Given the description of an element on the screen output the (x, y) to click on. 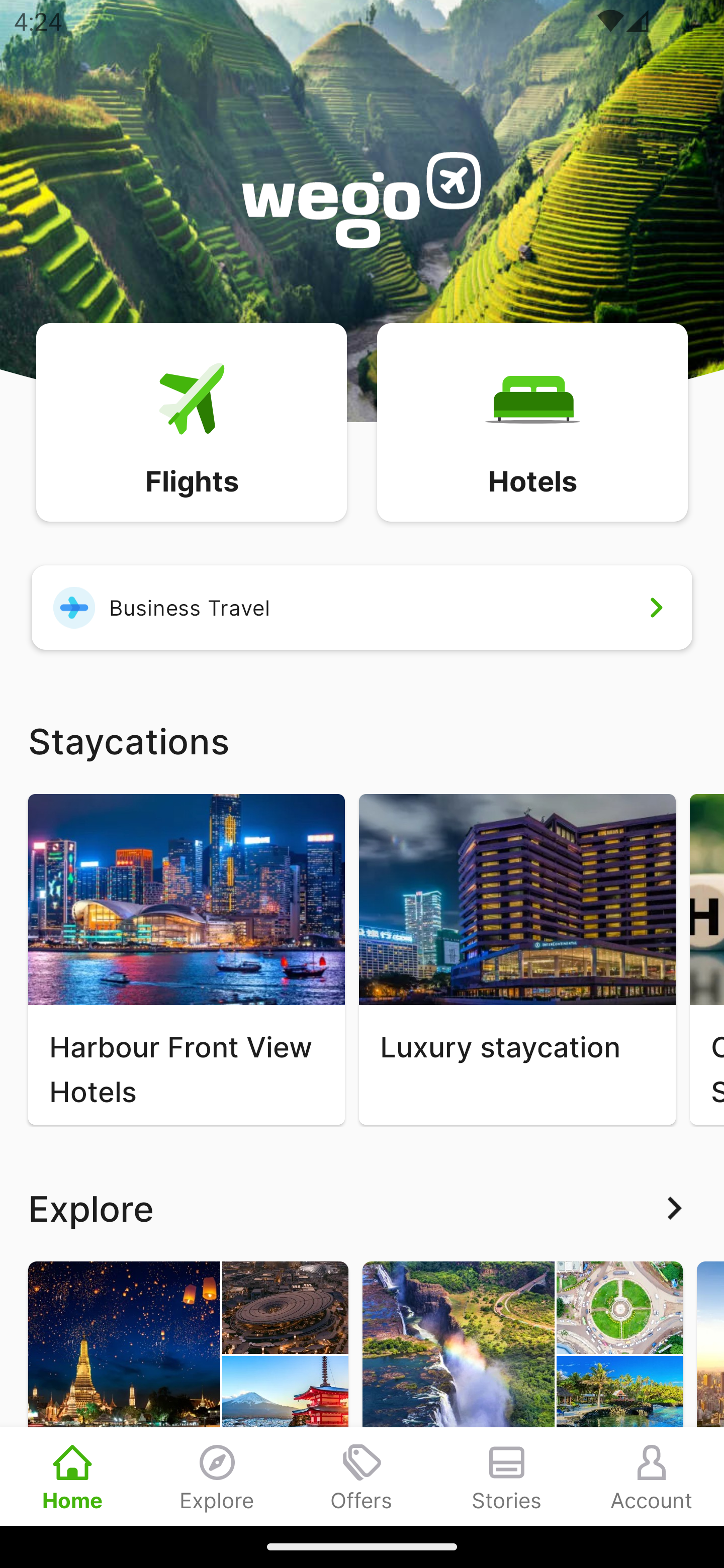
Flights (191, 420)
Hotels (532, 420)
Business Travel (361, 607)
Staycations (362, 739)
Harbour Front View Hotels (186, 958)
Luxury staycation (517, 958)
Explore (362, 1207)
Popular Destinations (188, 1392)
Visa-free Countries (522, 1392)
Explore (216, 1475)
Offers (361, 1475)
Stories (506, 1475)
Account (651, 1475)
